Given the description of an element on the screen output the (x, y) to click on. 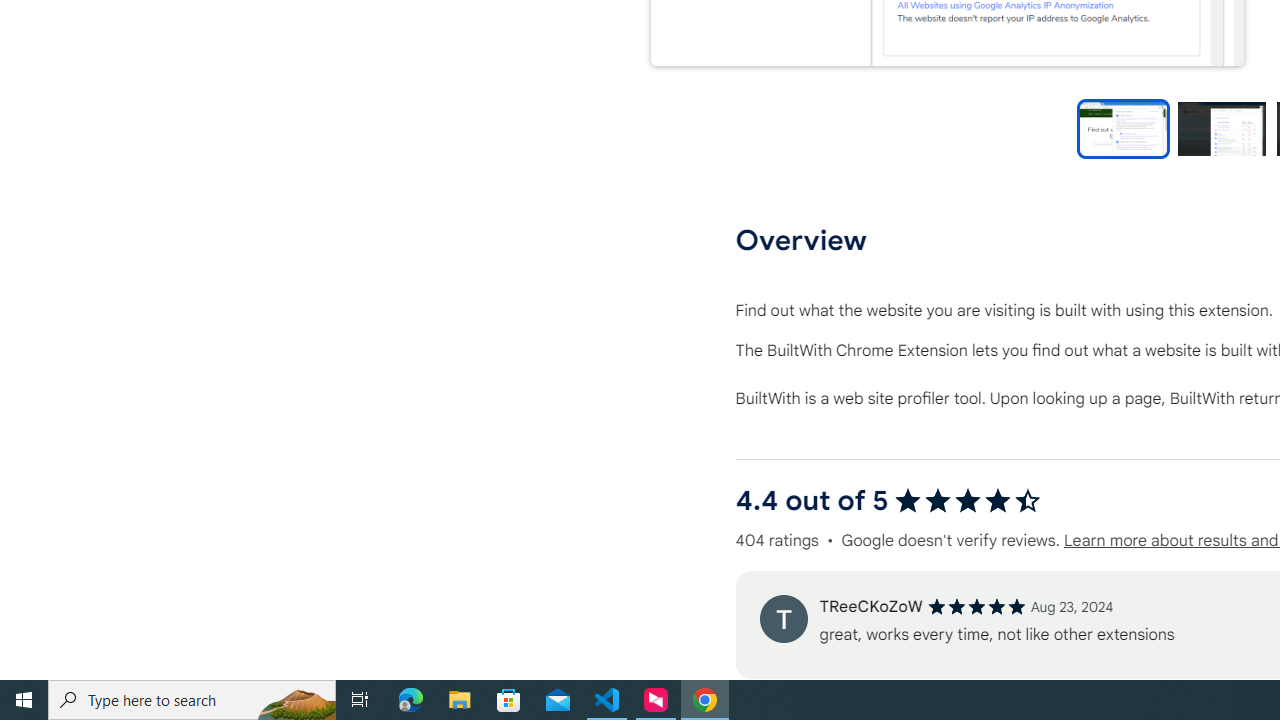
Preview slide 1 (1123, 128)
5 out of 5 stars (975, 606)
Review's profile picture (783, 618)
Preview slide 2 (1221, 128)
4.4 out of 5 stars (967, 500)
